Given the description of an element on the screen output the (x, y) to click on. 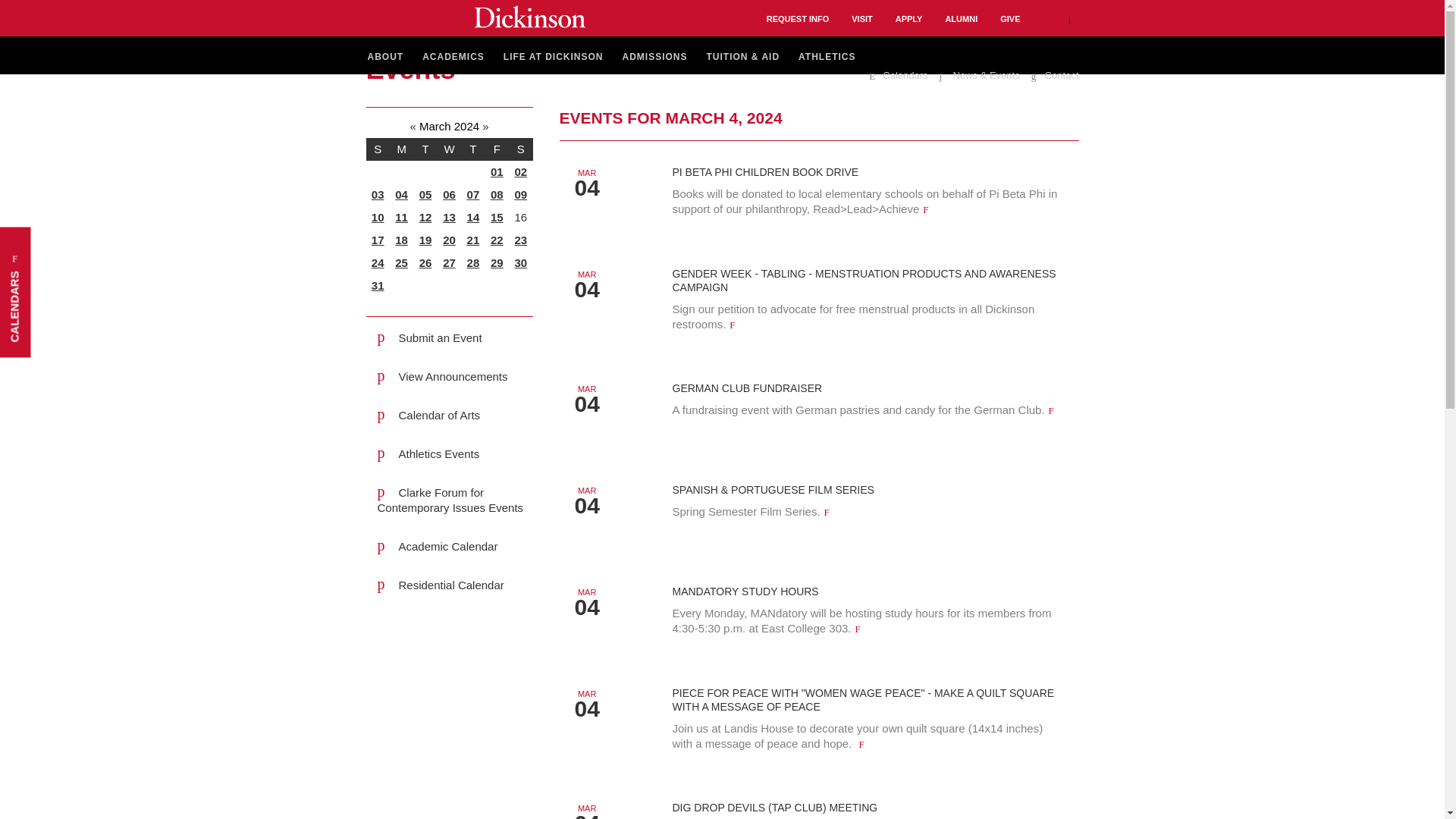
GIVE (1010, 18)
ATHLETICS (826, 58)
LIFE AT DICKINSON (553, 58)
APPLY (909, 18)
REQUEST INFO (798, 18)
ABOUT (384, 58)
Contact (1054, 75)
ACADEMICS (453, 58)
CALENDARS (65, 242)
Dickinson College Athletics (826, 58)
